Given the description of an element on the screen output the (x, y) to click on. 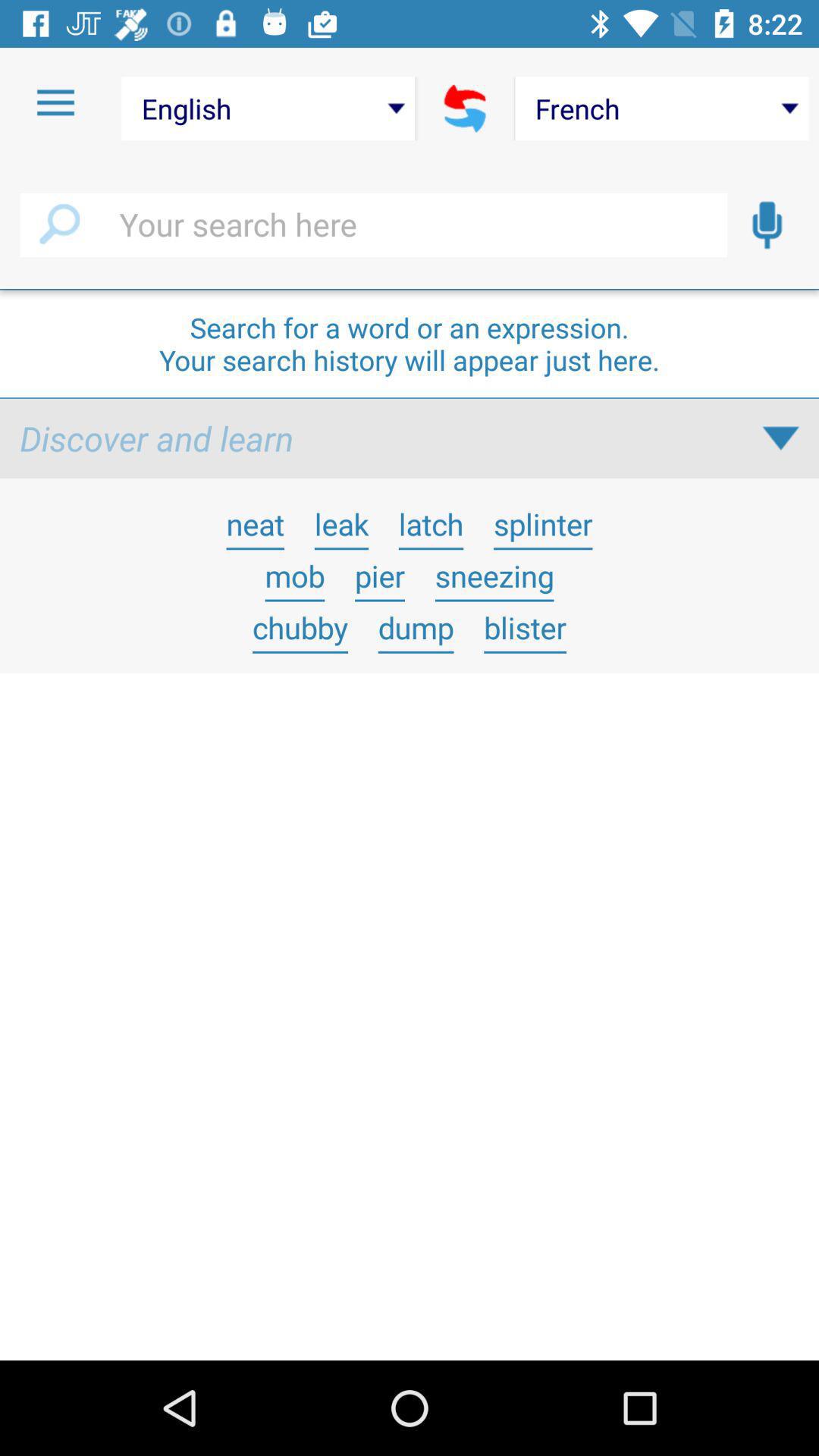
refresh option (465, 108)
